Given the description of an element on the screen output the (x, y) to click on. 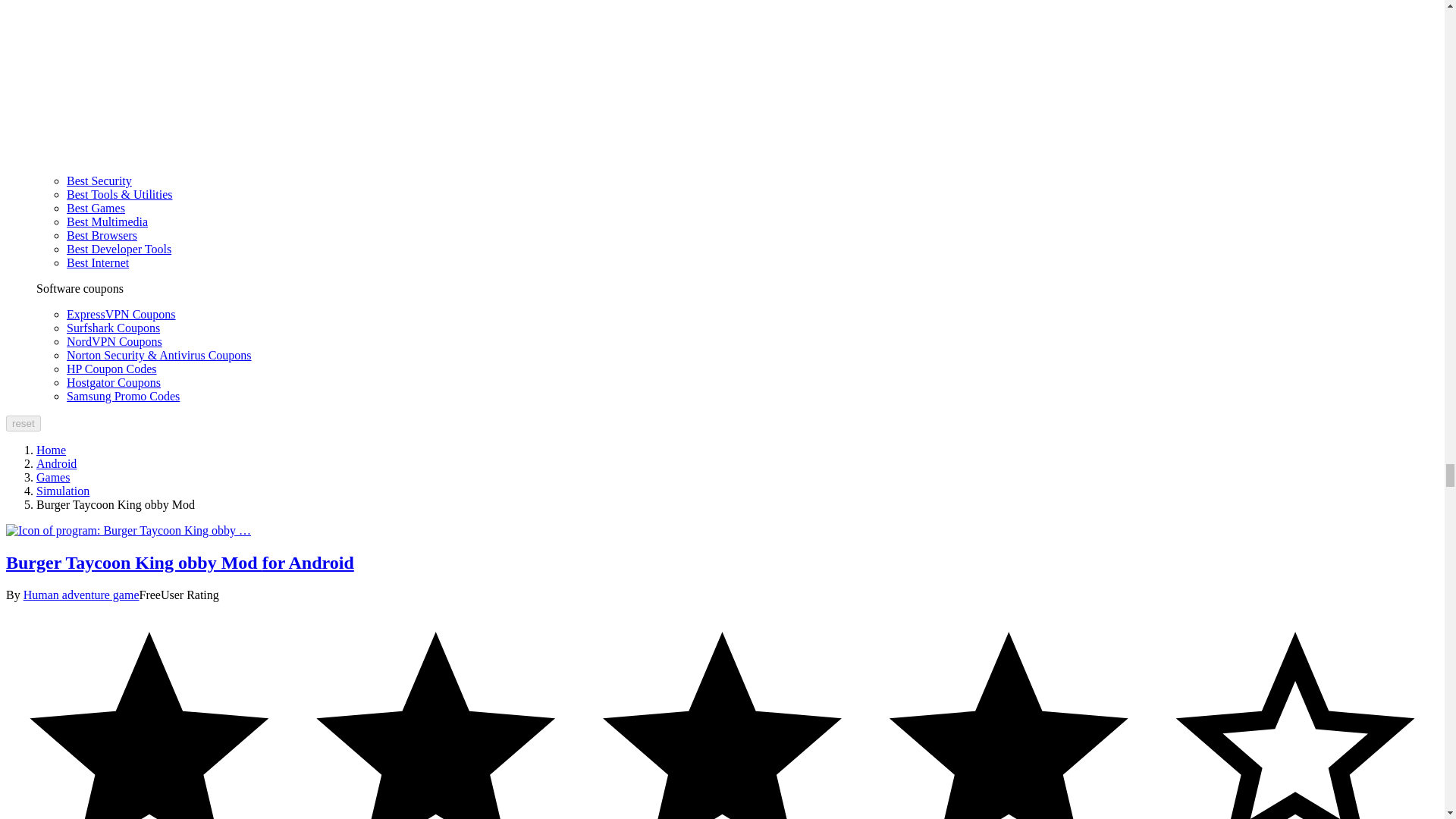
reset (22, 423)
Burger Taycoon King obby Mod for Android (127, 530)
